Given the description of an element on the screen output the (x, y) to click on. 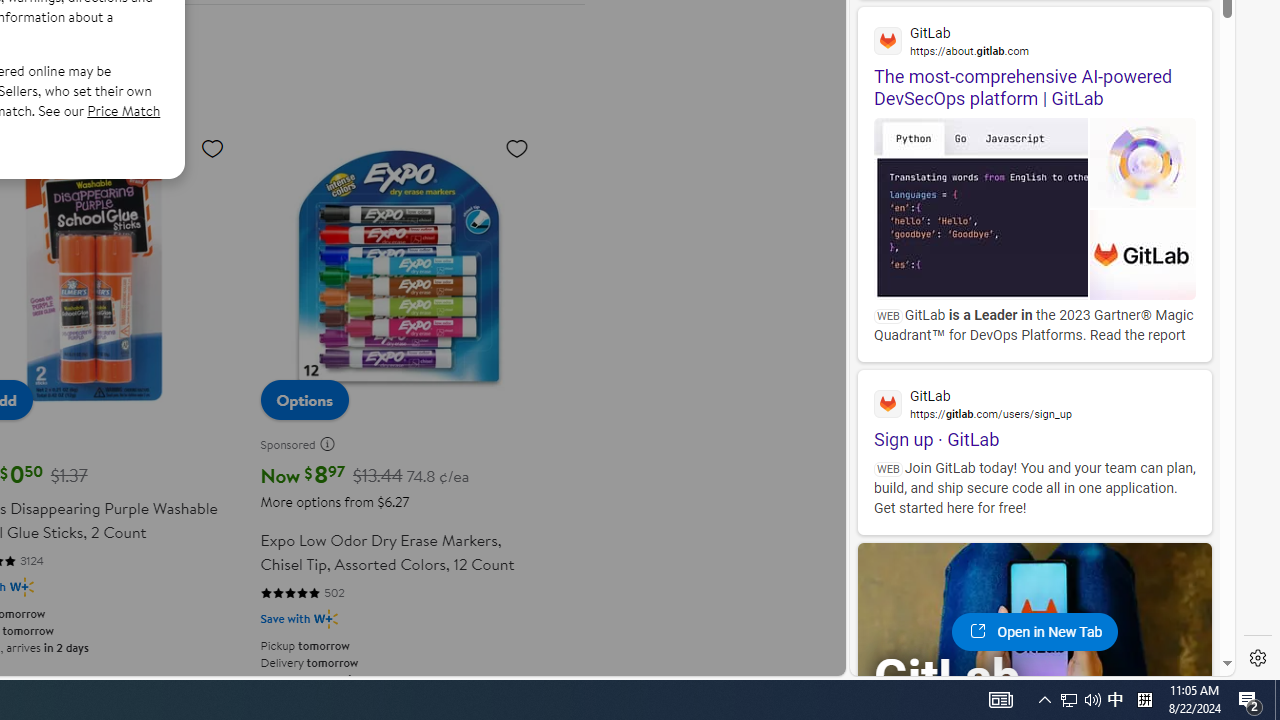
View details (1145, 256)
GitLab (966, 678)
View details (1145, 255)
Global web icon (888, 403)
